Given the description of an element on the screen output the (x, y) to click on. 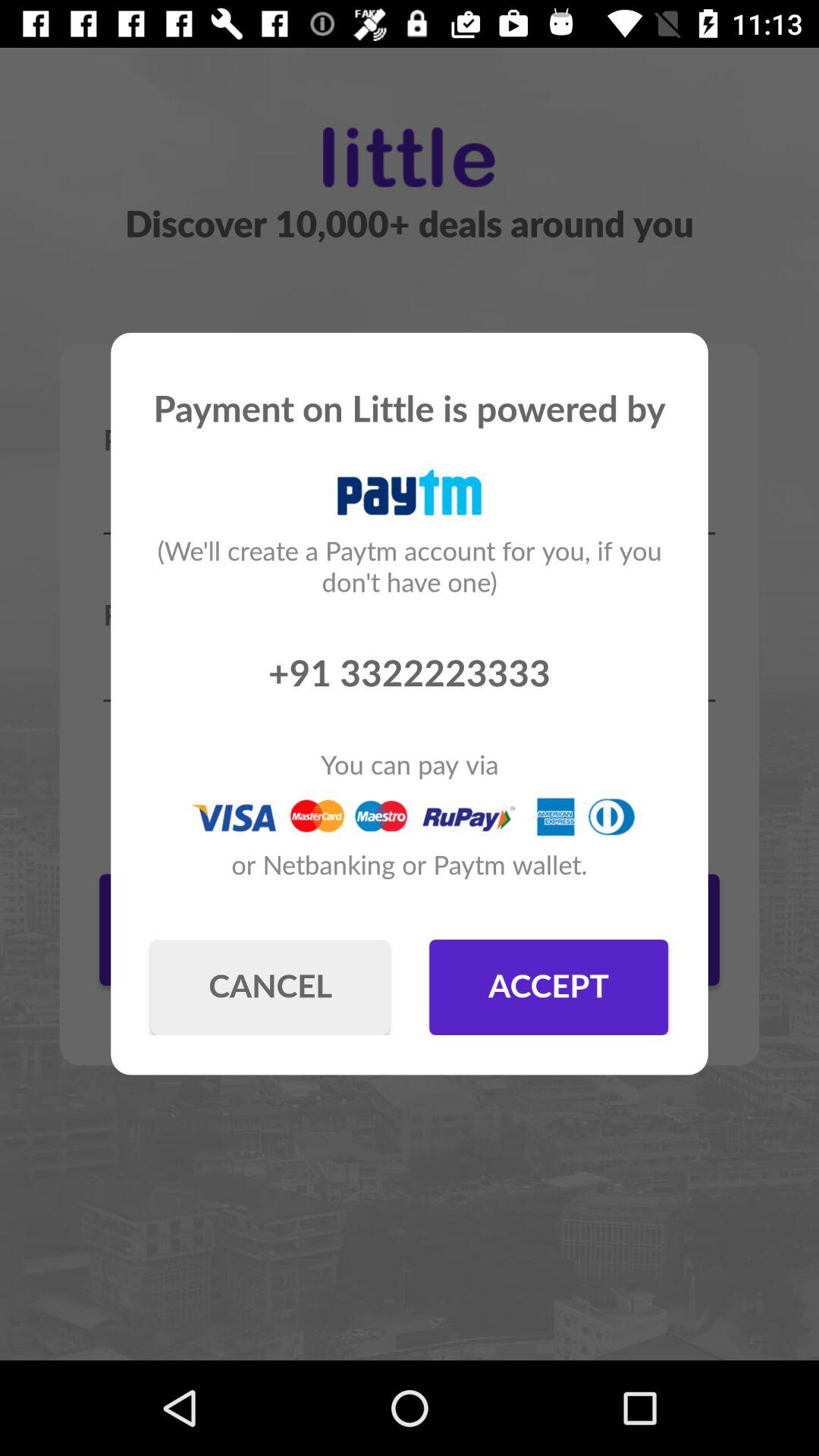
open item at the bottom right corner (548, 987)
